Given the description of an element on the screen output the (x, y) to click on. 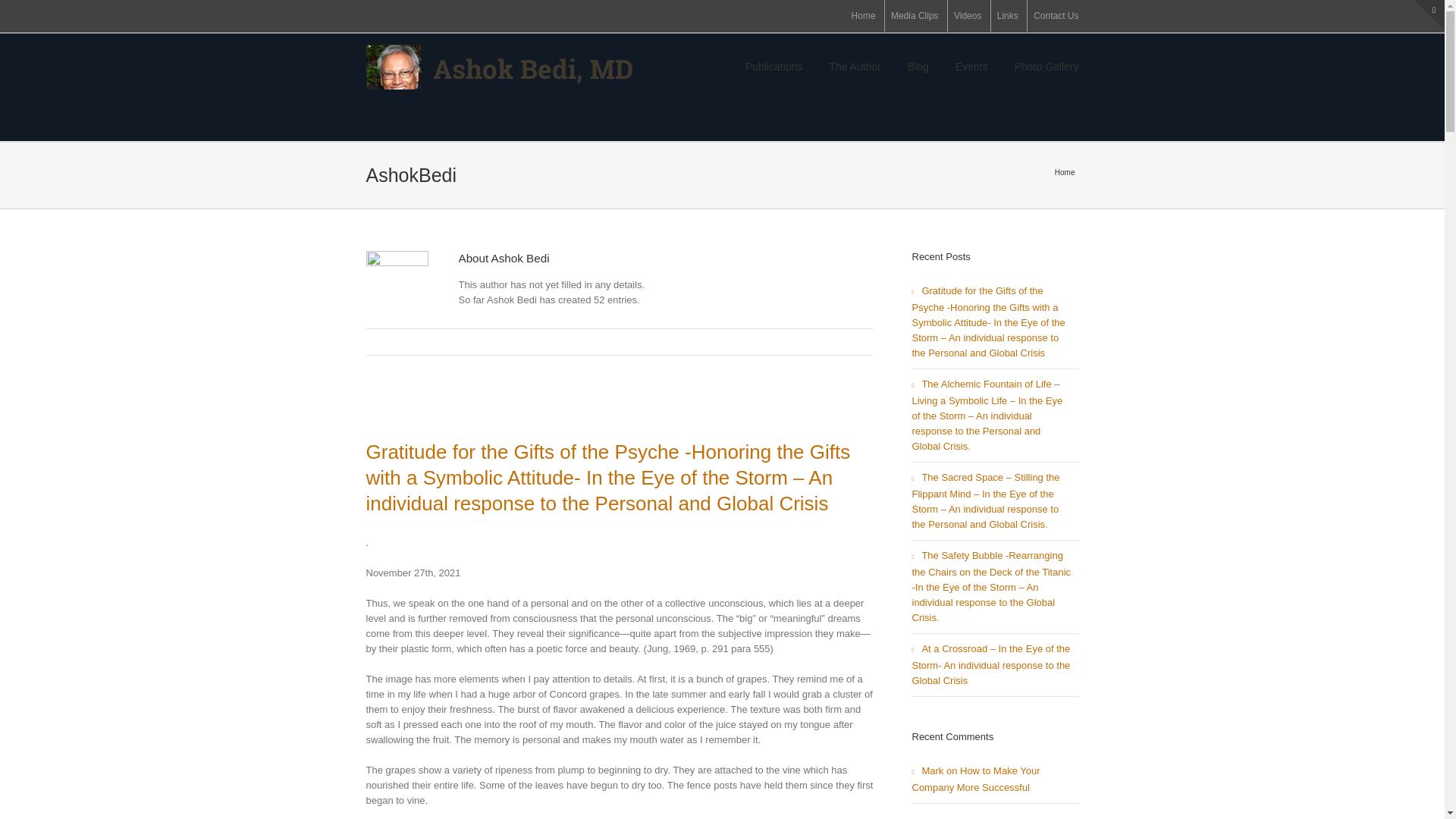
Home (863, 15)
Media Clips (915, 15)
Youtube (420, 17)
Videos (967, 15)
Contact Us (1055, 15)
Home (1066, 172)
Links (1007, 15)
Email (864, 341)
Photo Gallery (1046, 65)
